Given the description of an element on the screen output the (x, y) to click on. 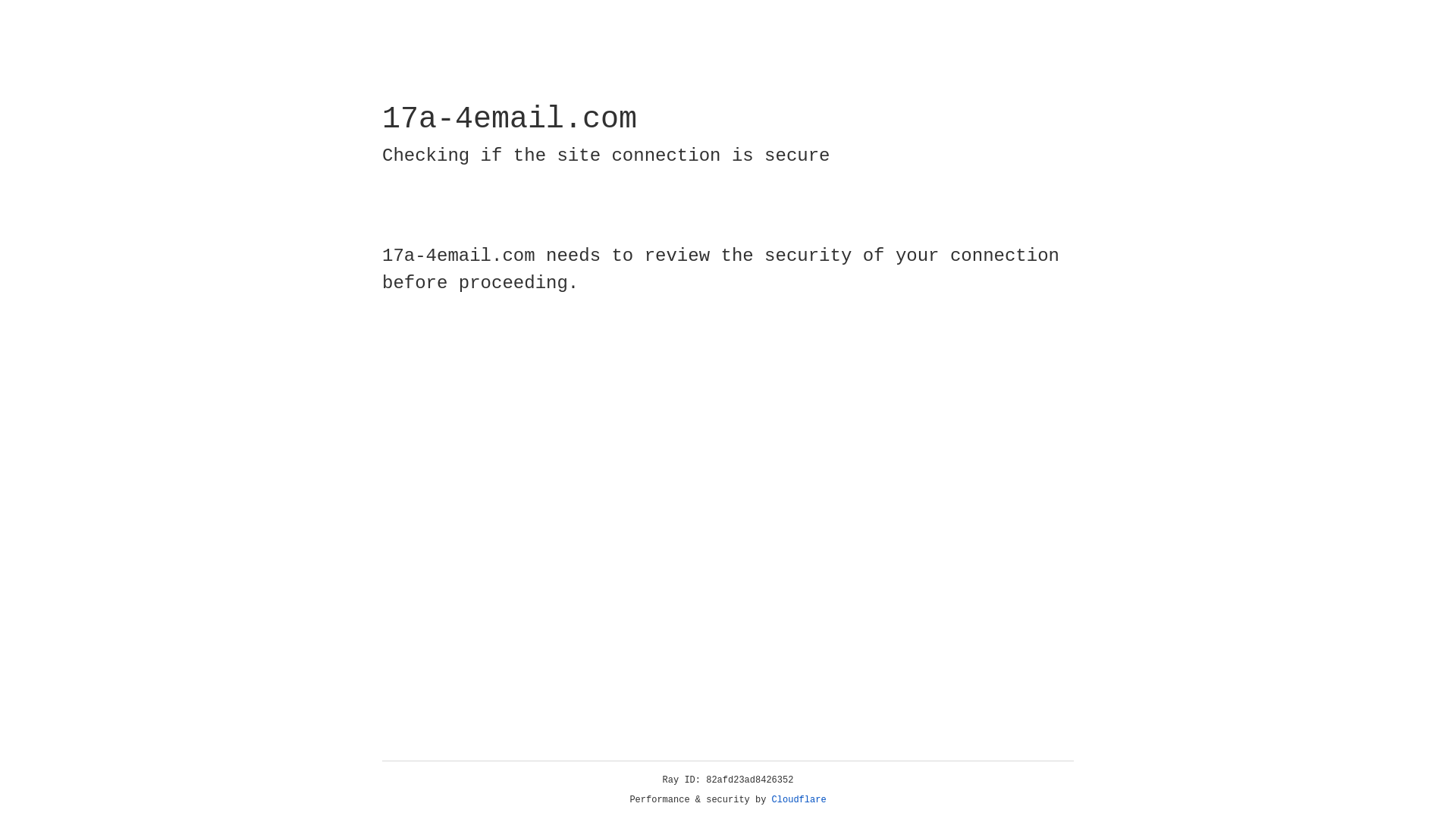
Cloudflare Element type: text (798, 799)
